Given the description of an element on the screen output the (x, y) to click on. 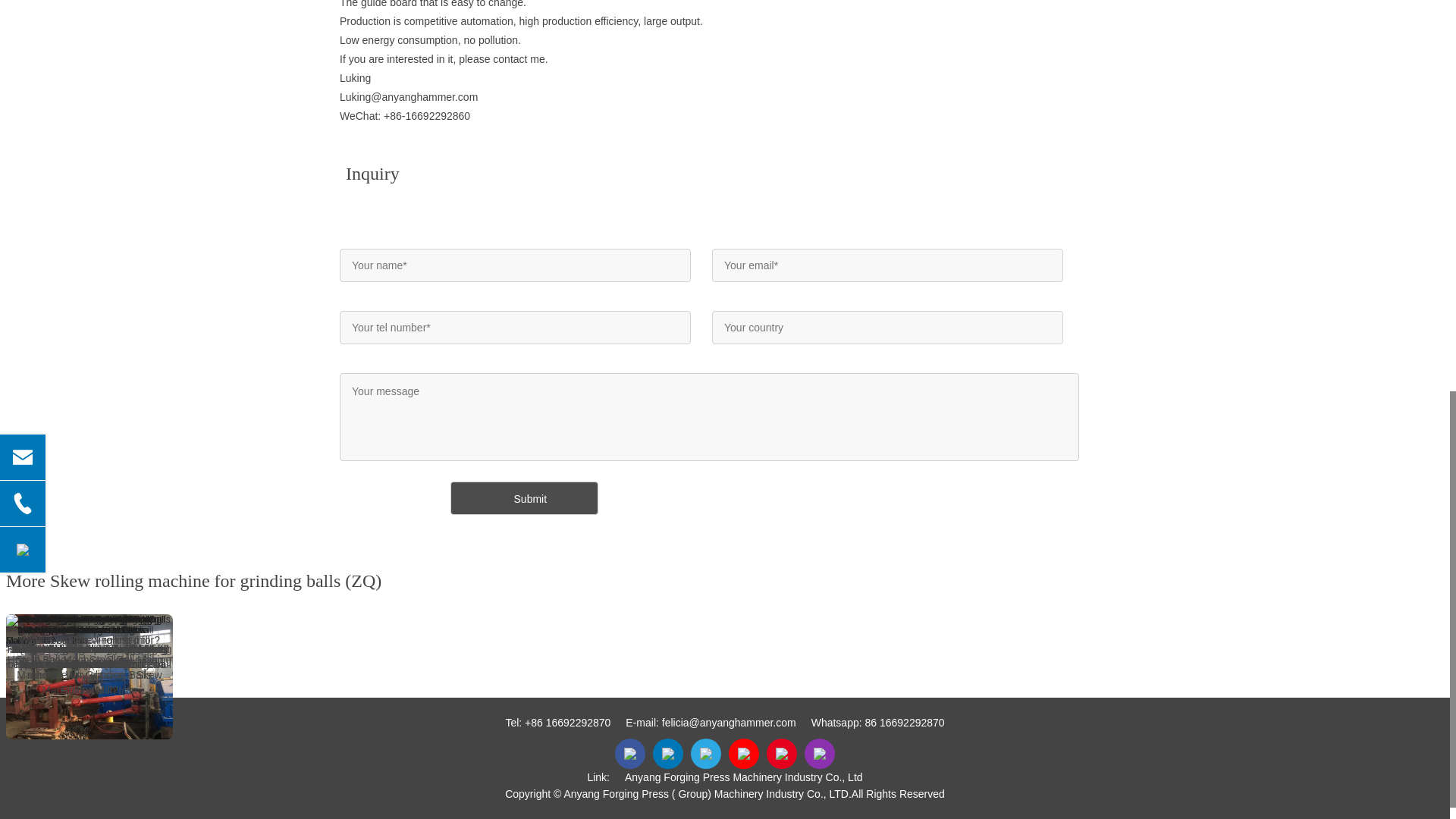
Hot forged steel ball skew mill forging for sale in china (89, 656)
Submit (523, 498)
Hot forged steel ball skew mill forging for sale in china (89, 624)
